Given the description of an element on the screen output the (x, y) to click on. 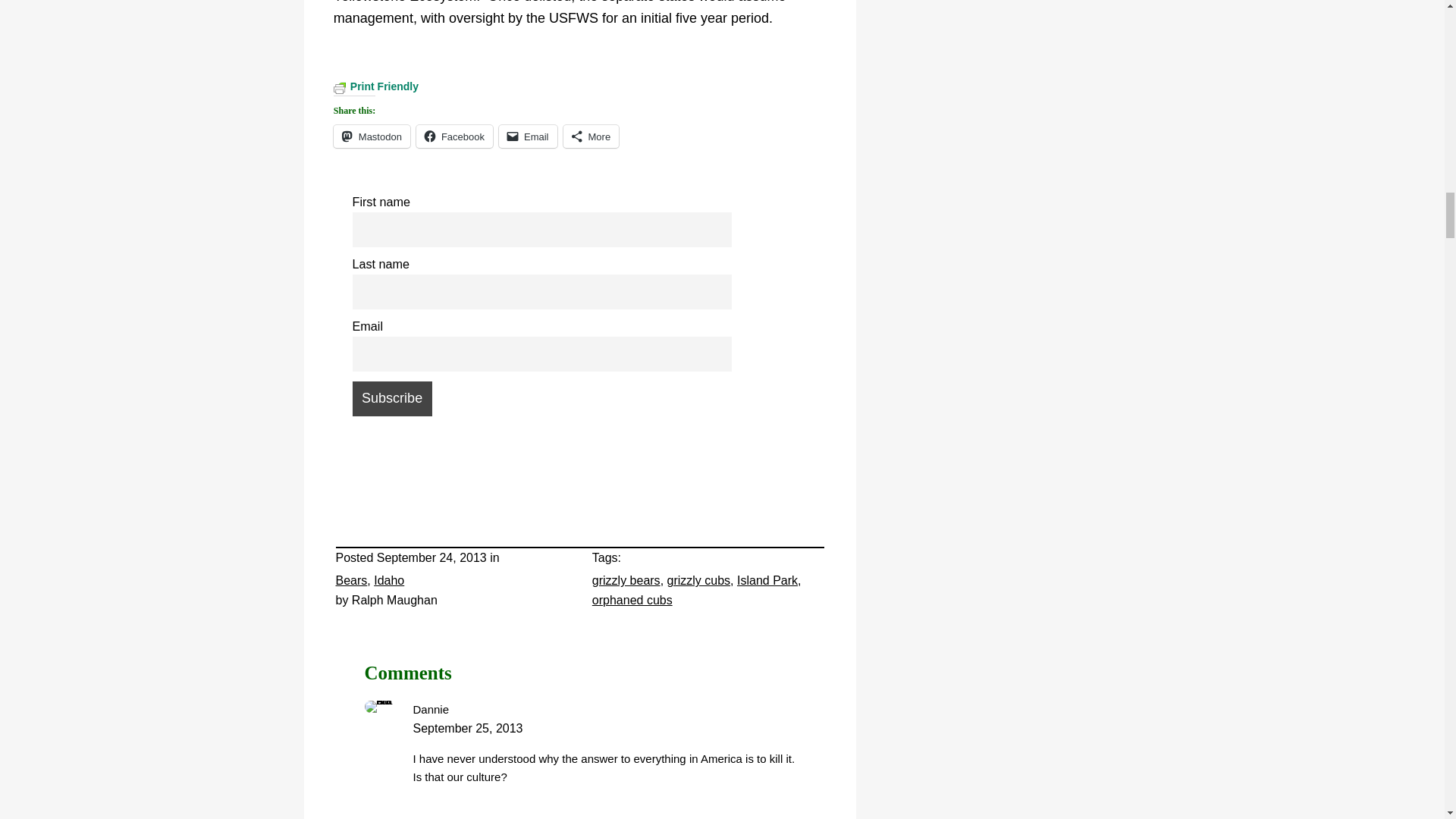
Click to email a link to a friend (528, 136)
Click to share on Mastodon (371, 136)
Subscribe (391, 398)
Click to share on Facebook (454, 136)
